Given the description of an element on the screen output the (x, y) to click on. 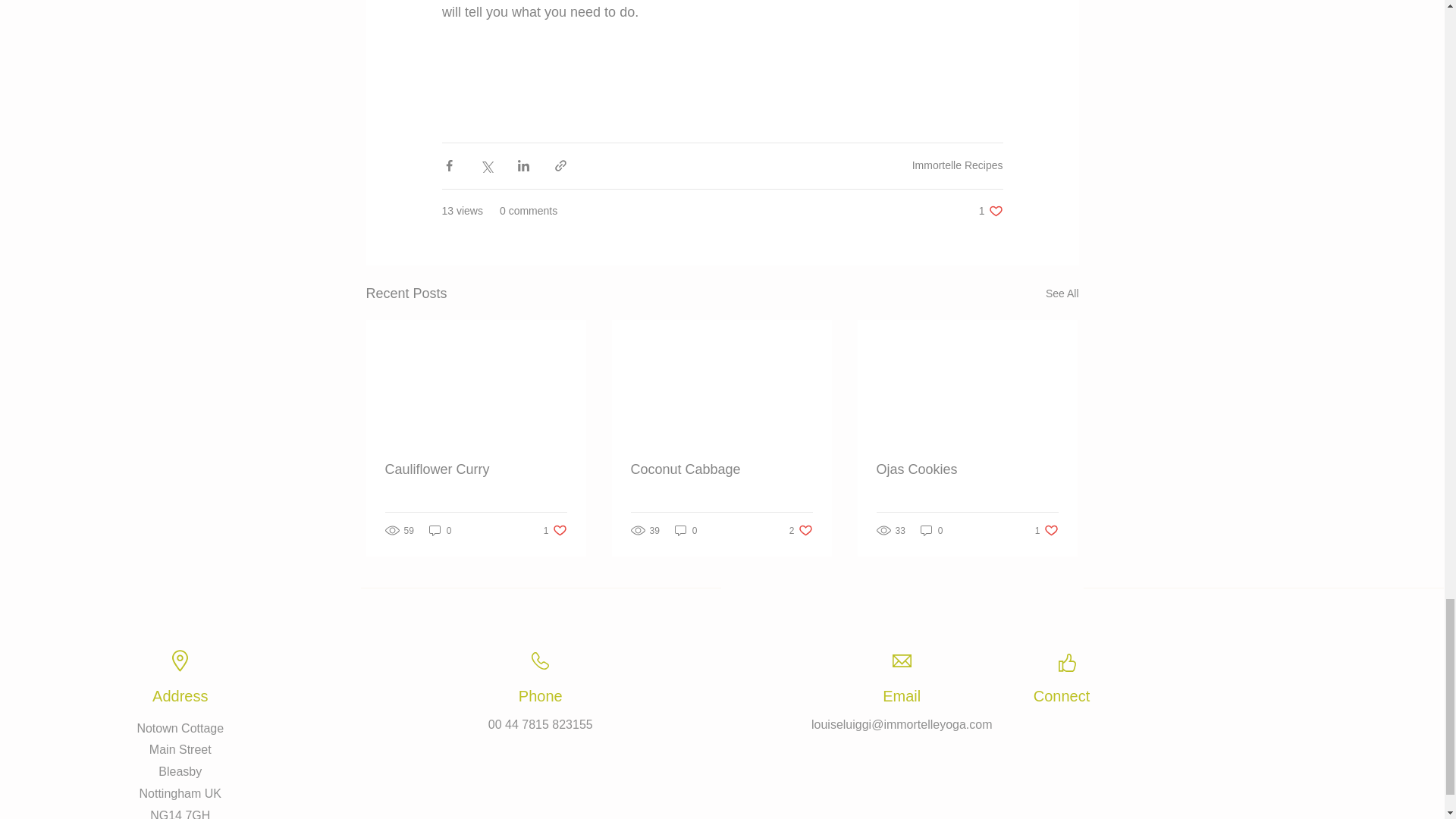
Immortelle Recipes (957, 164)
Cauliflower Curry (476, 468)
0 (990, 210)
0 (555, 530)
Coconut Cabbage (685, 530)
See All (440, 530)
